Given the description of an element on the screen output the (x, y) to click on. 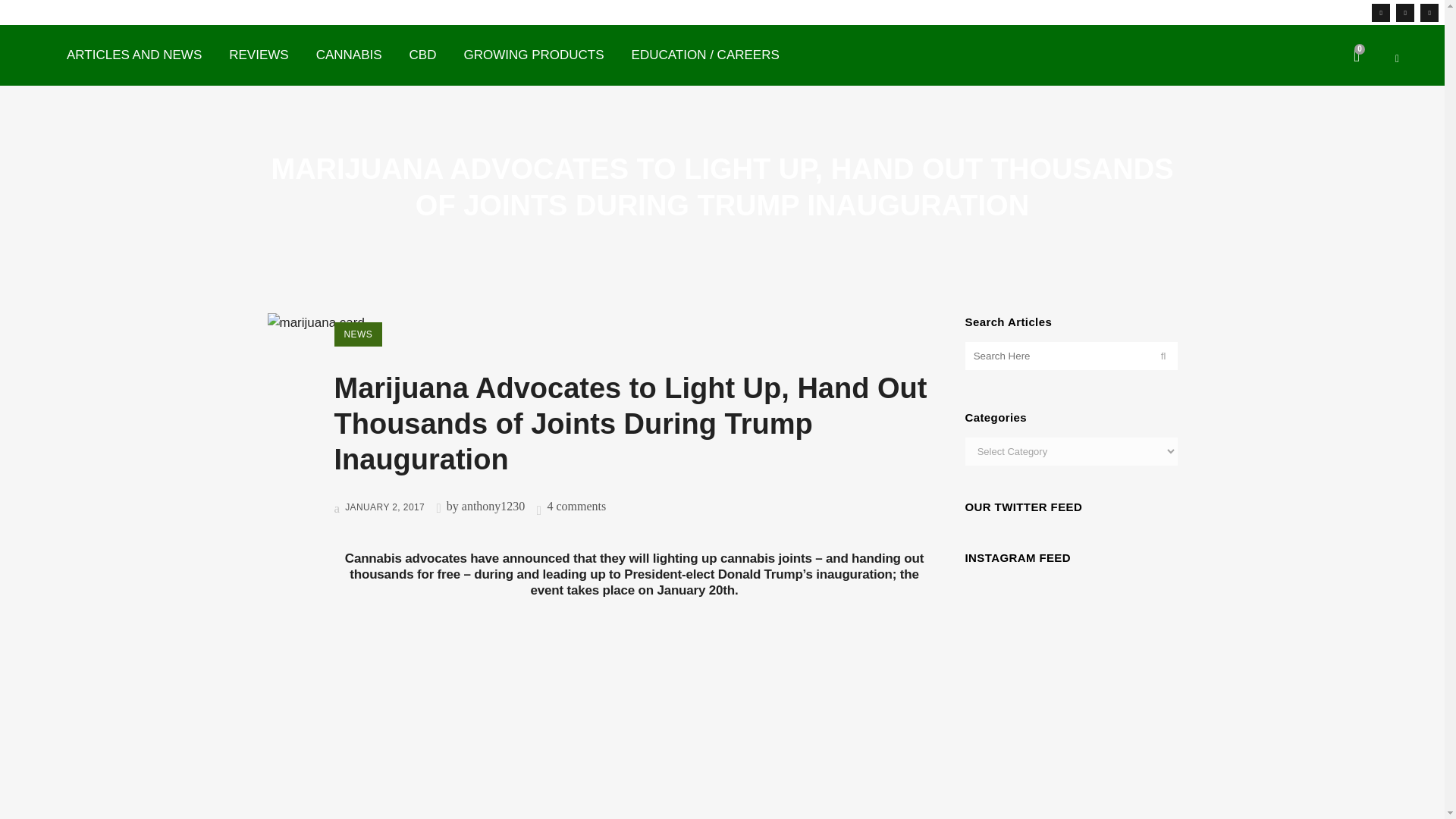
NEWS (357, 334)
JANUARY 2, 2017 (379, 507)
ARTICLES AND NEWS (133, 55)
anthony1230 (493, 505)
CANNABIS (349, 55)
0 (1356, 55)
4 comments (576, 505)
REVIEWS (258, 55)
GROWING PRODUCTS (533, 55)
CBD (422, 55)
